Given the description of an element on the screen output the (x, y) to click on. 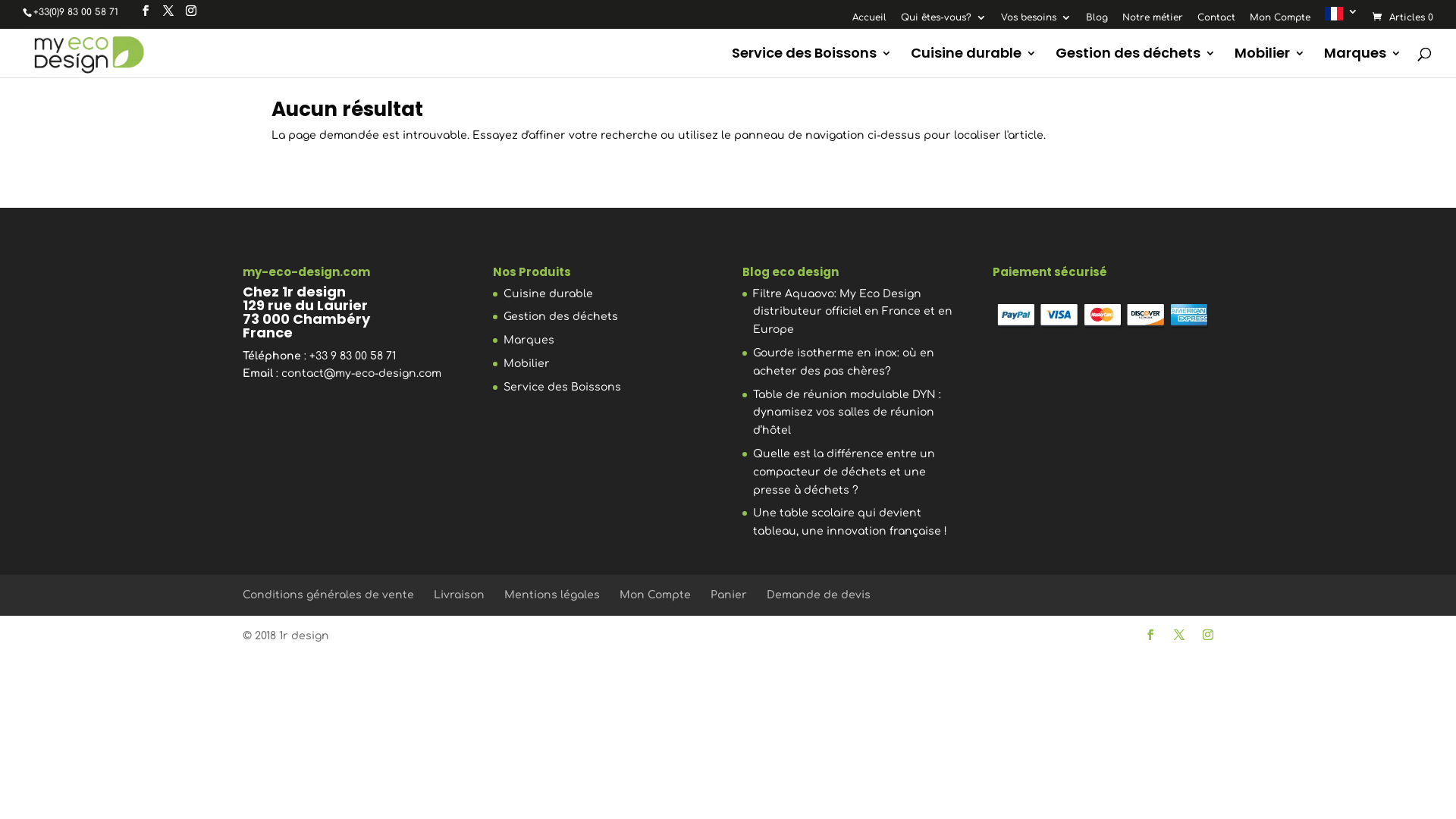
Livraison Element type: text (458, 594)
Blog Element type: text (1096, 20)
Demande de devis Element type: text (818, 594)
Mon Compte Element type: text (654, 594)
Vos besoins Element type: text (1036, 20)
Mobilier Element type: text (526, 363)
Panier Element type: text (728, 594)
Marques Element type: text (528, 339)
Service des Boissons Element type: text (811, 62)
Marques Element type: text (1362, 62)
Articles 0 Element type: text (1401, 17)
Mon Compte Element type: text (1279, 20)
Service des Boissons Element type: text (562, 386)
Cuisine durable Element type: text (548, 293)
Mobilier Element type: text (1269, 62)
French Element type: hover (1341, 16)
contact@my-eco-design.com Element type: text (361, 373)
Cuisine durable Element type: text (973, 62)
Accueil Element type: text (869, 20)
Contact Element type: text (1216, 20)
